Given the description of an element on the screen output the (x, y) to click on. 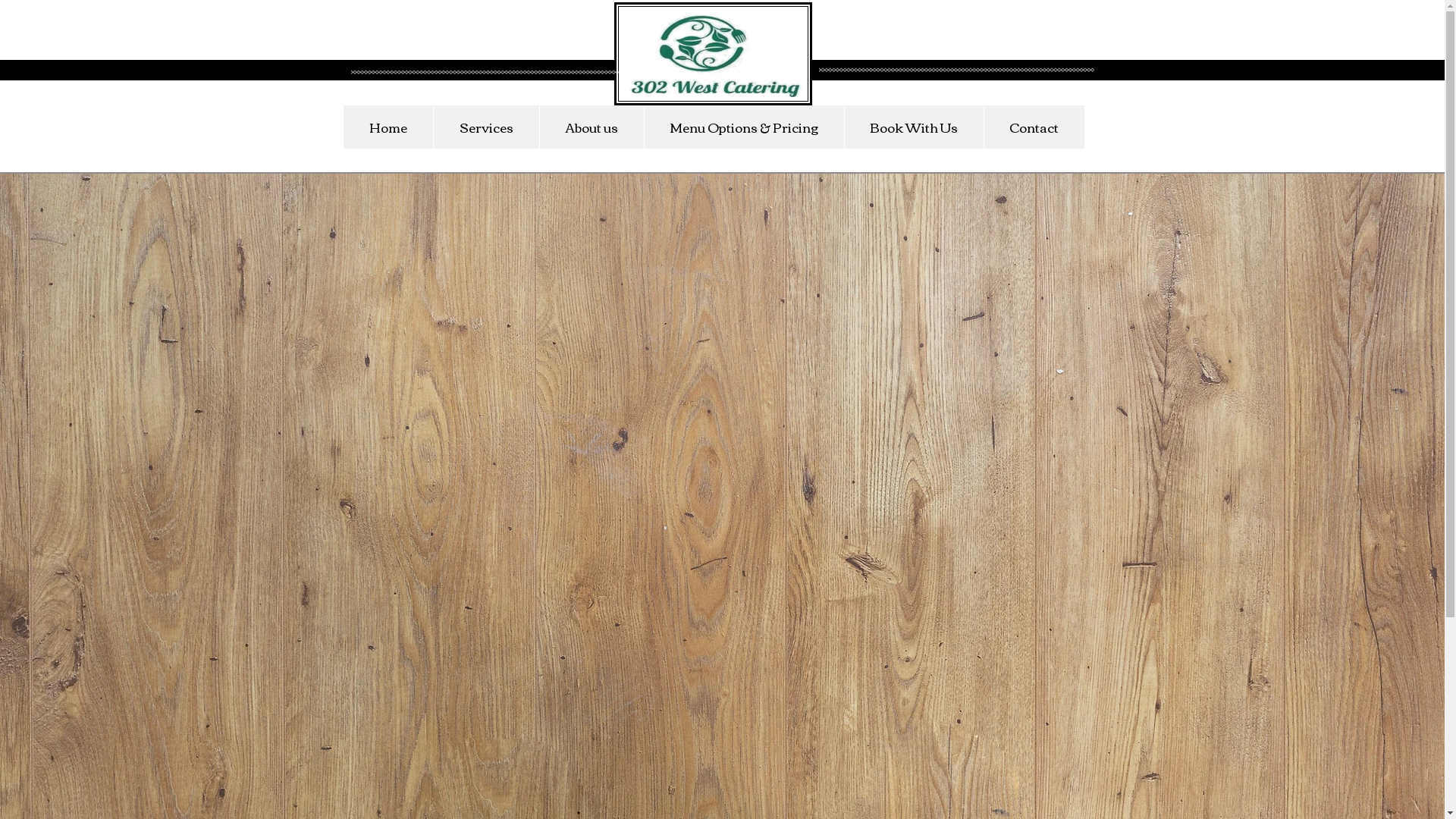
Book With Us Element type: text (912, 126)
About us Element type: text (590, 126)
Contact Element type: text (1032, 126)
Services Element type: text (485, 126)
Home Element type: text (387, 126)
Menu Options & Pricing Element type: text (743, 126)
